Given the description of an element on the screen output the (x, y) to click on. 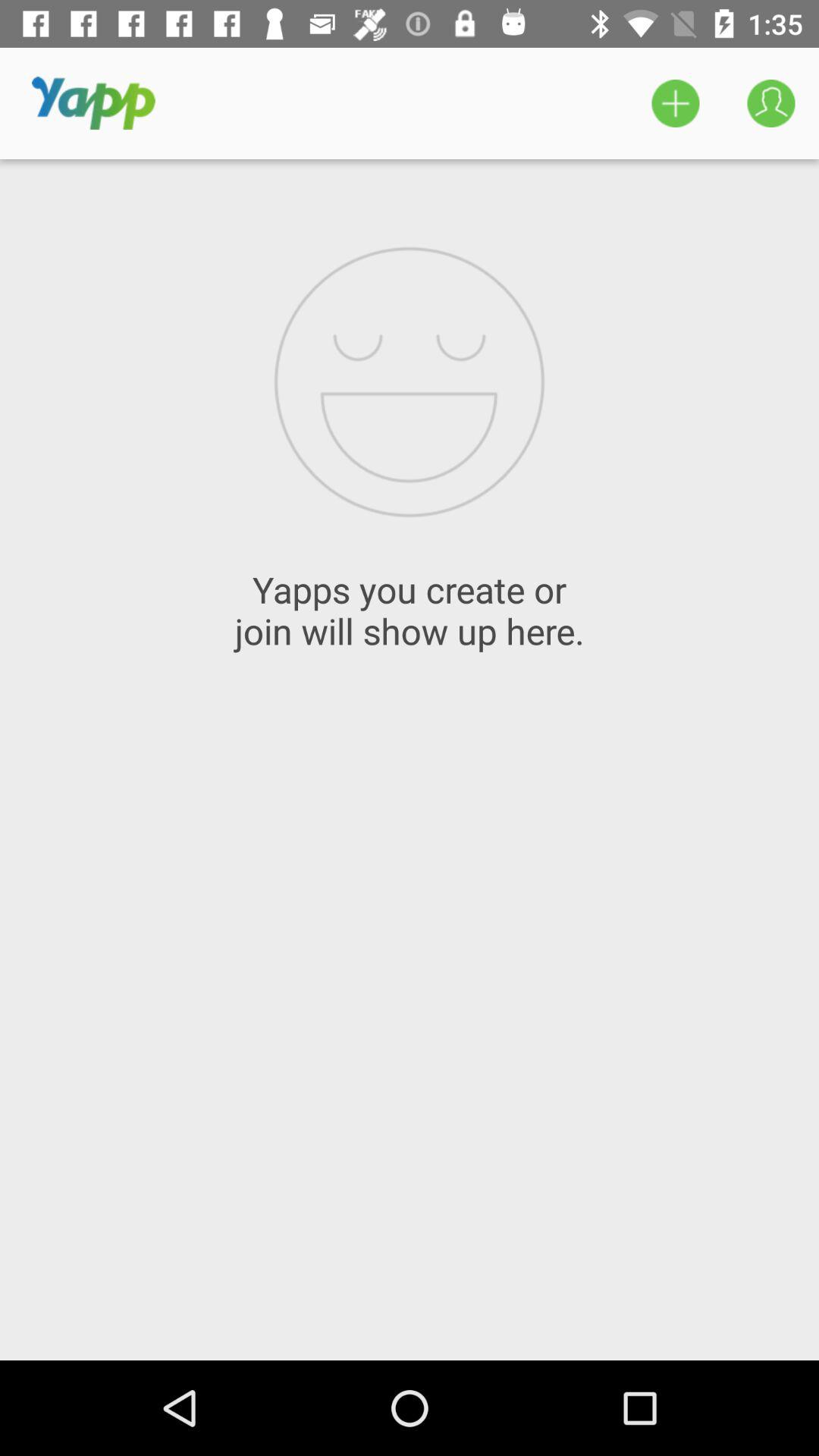
open icon above yapps you create item (675, 103)
